Given the description of an element on the screen output the (x, y) to click on. 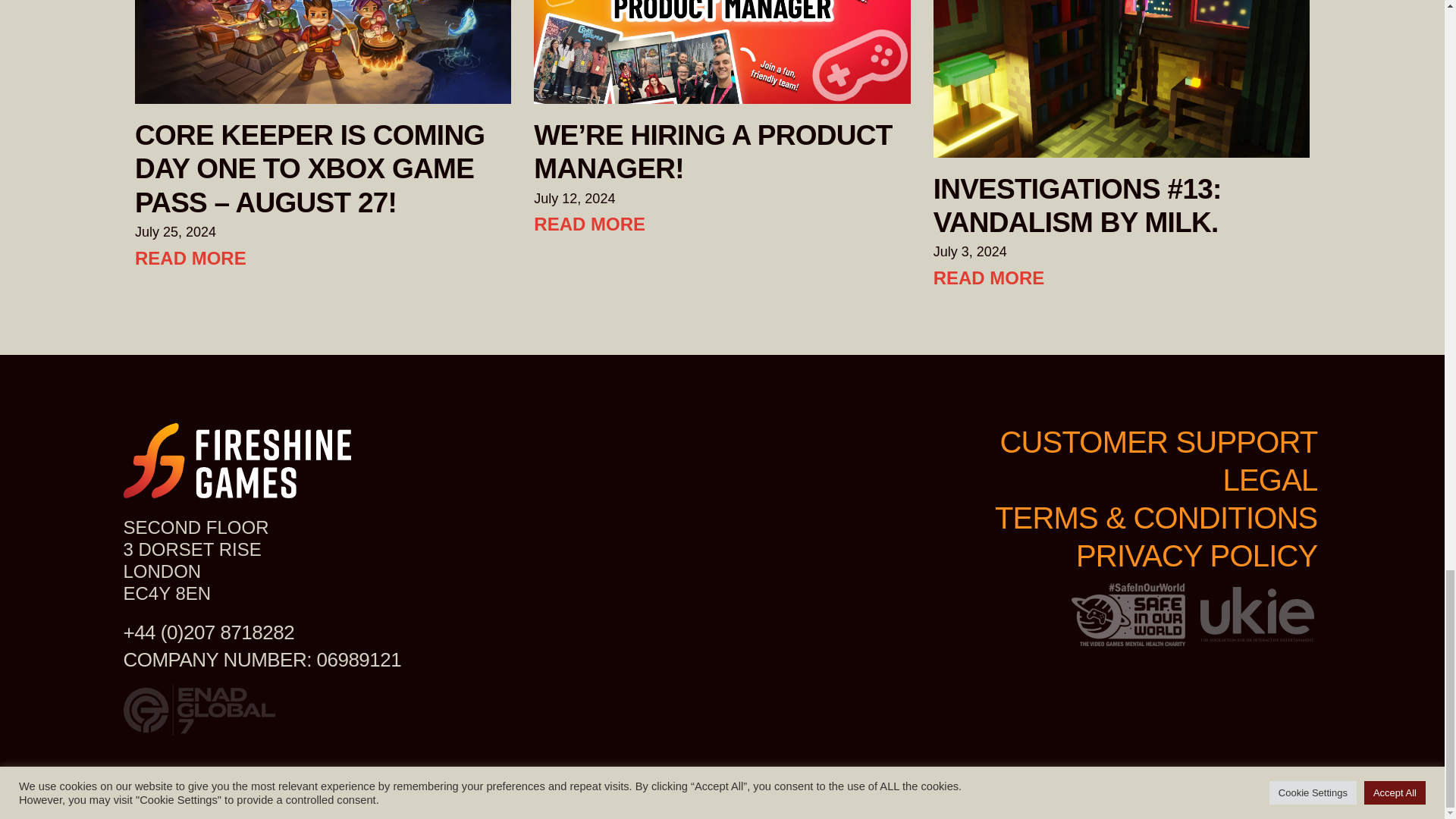
CUSTOMER SUPPORT (1157, 441)
LEGAL (1270, 479)
READ MORE (989, 277)
safeinourworld-logo (1127, 614)
READ MORE (589, 223)
PRIVACY POLICY (1196, 555)
READ MORE (190, 258)
